Given the description of an element on the screen output the (x, y) to click on. 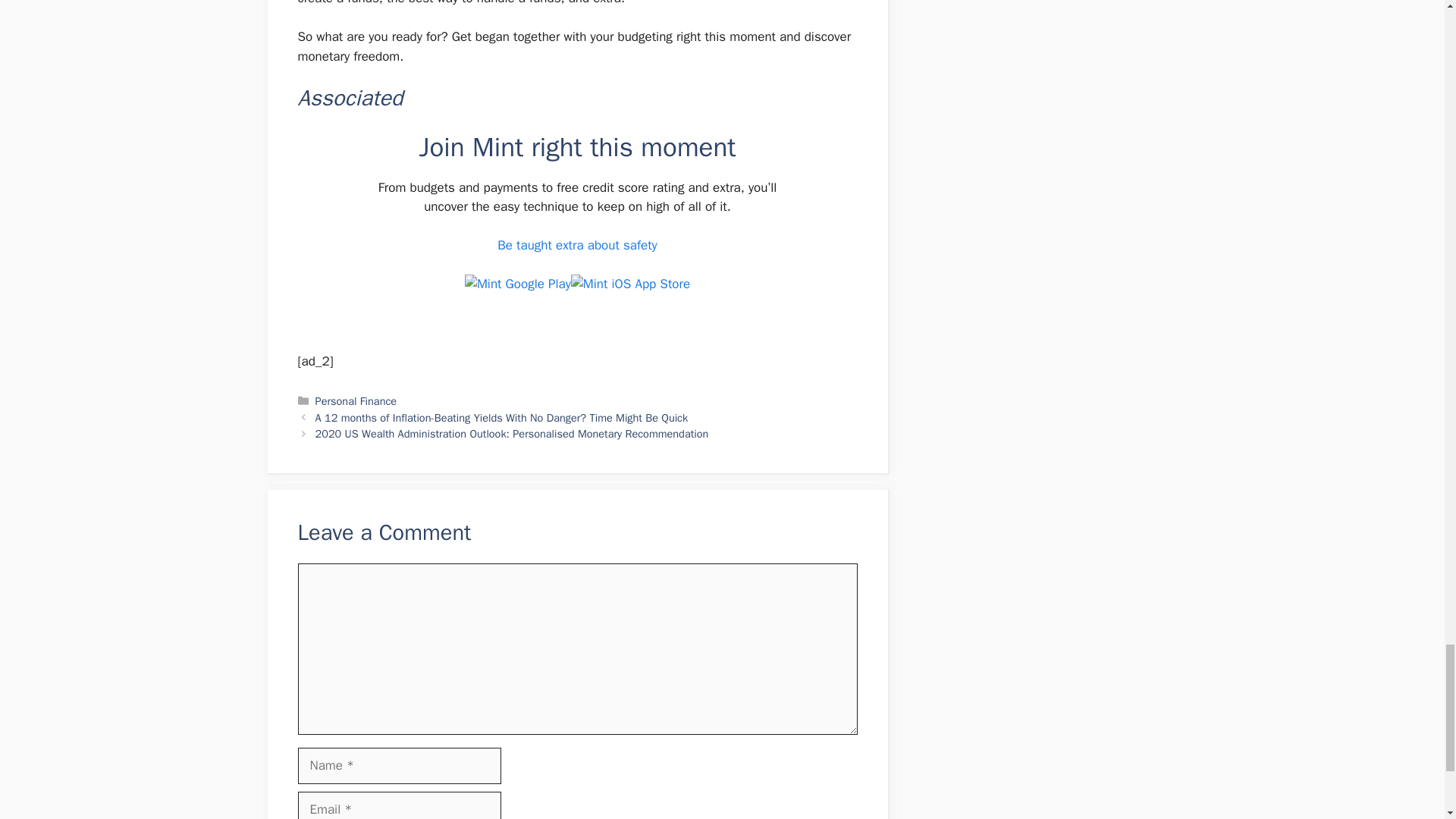
Chapter 10: Set Up Your Mint Targets 3 (630, 284)
Chapter 10: Set Up Your Mint Targets 2 (517, 284)
Personal Finance (356, 400)
Be taught extra about safety (577, 245)
